Given the description of an element on the screen output the (x, y) to click on. 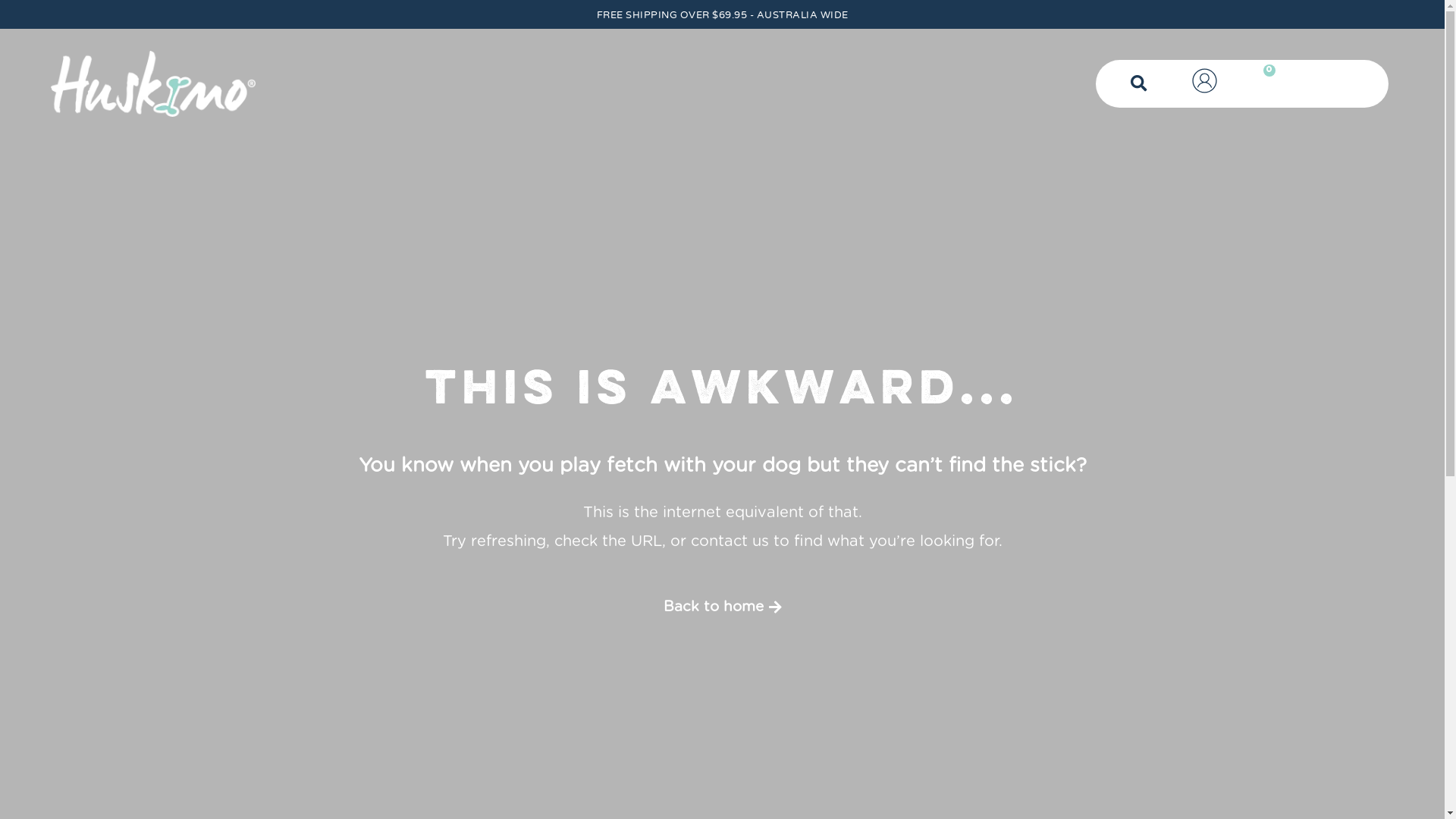
0 Element type: text (1260, 82)
Back to home Element type: text (721, 607)
